Given the description of an element on the screen output the (x, y) to click on. 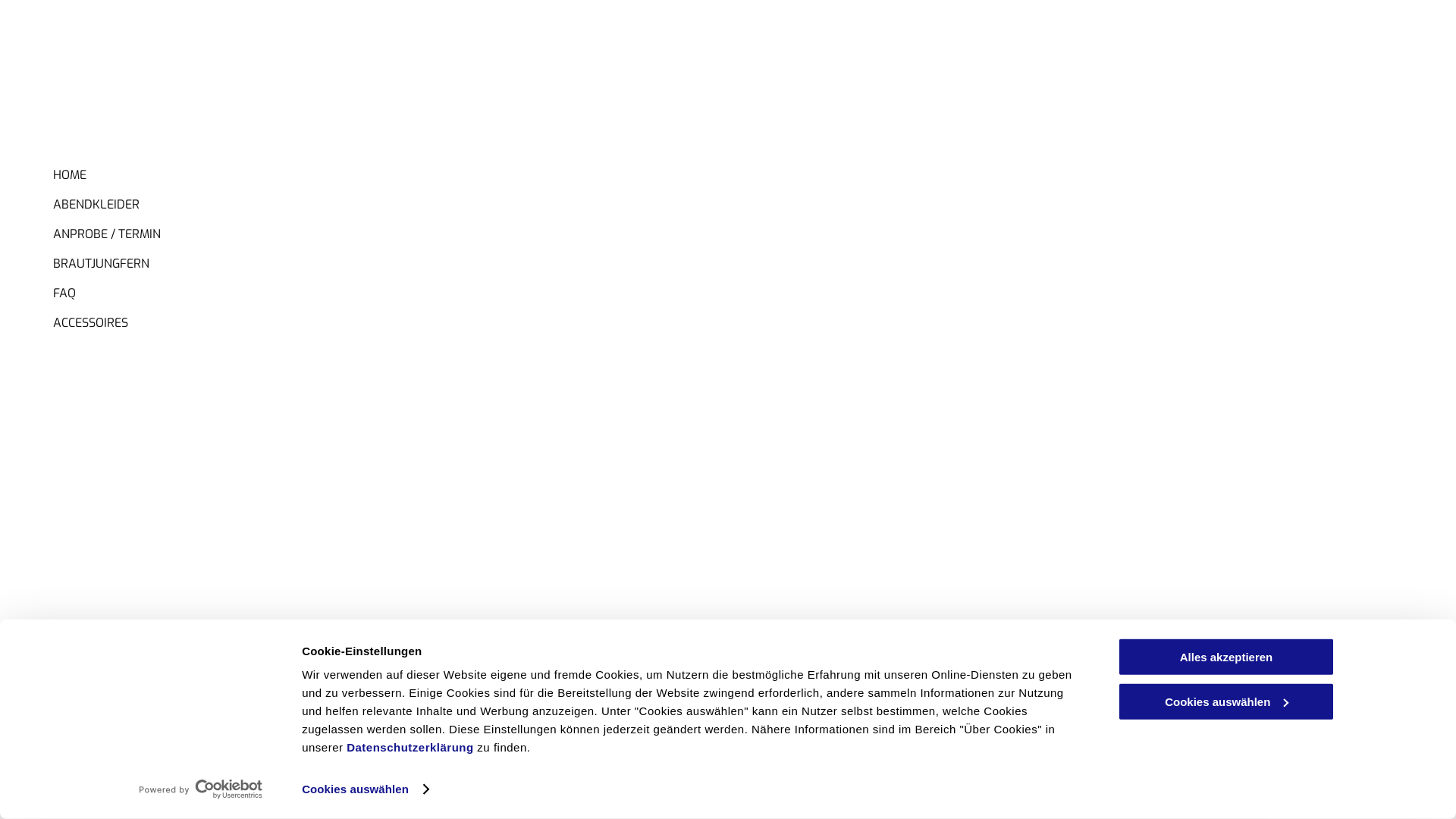
abendkleidershop.ch Element type: text (108, 695)
FAQ Element type: text (398, 287)
ACCESSOIRES Element type: text (398, 317)
ABENDKLEIDER Element type: text (462, 786)
HOME Element type: text (398, 169)
BRAUTJUNGFERN Element type: text (706, 786)
ANPROBE / TERMIN Element type: text (398, 228)
ACCESSOIRES Element type: text (860, 786)
ABENDKLEIDER Element type: text (398, 198)
Alles akzeptieren Element type: text (1225, 656)
HOME Element type: text (379, 786)
abendkleidershop.ch Element type: text (108, 756)
ANPROBE / TERMIN Element type: text (582, 786)
BRAUTJUNGFERN Element type: text (398, 258)
FAQ Element type: text (789, 786)
